Given the description of an element on the screen output the (x, y) to click on. 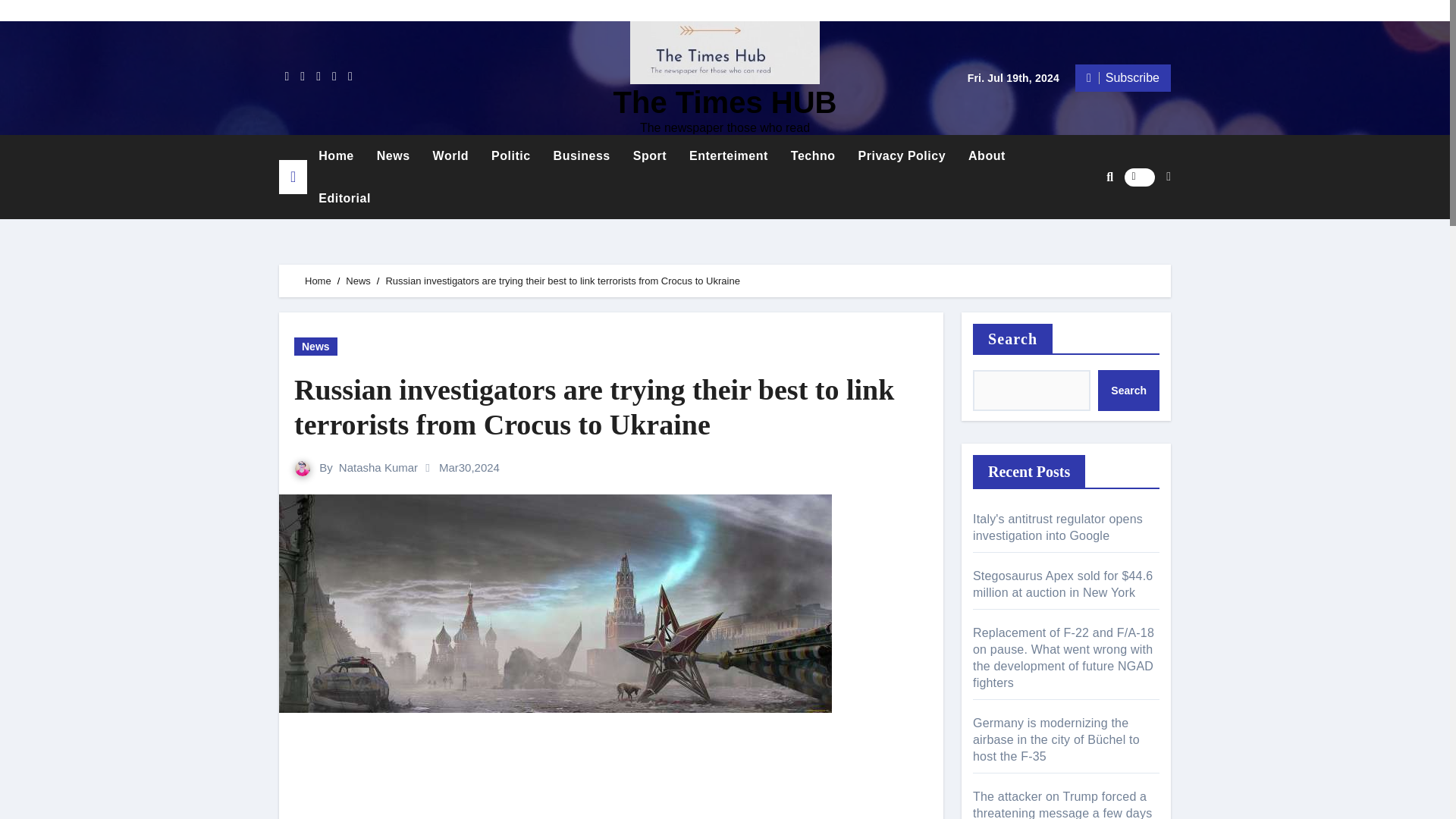
Business (581, 155)
The Times HUB (724, 101)
Home (317, 280)
About (986, 155)
Techno (812, 155)
News (393, 155)
About (986, 155)
News (393, 155)
Enterteiment (728, 155)
Privacy Policy (902, 155)
Politic (510, 155)
Business (581, 155)
Home (336, 155)
Sport (649, 155)
